Given the description of an element on the screen output the (x, y) to click on. 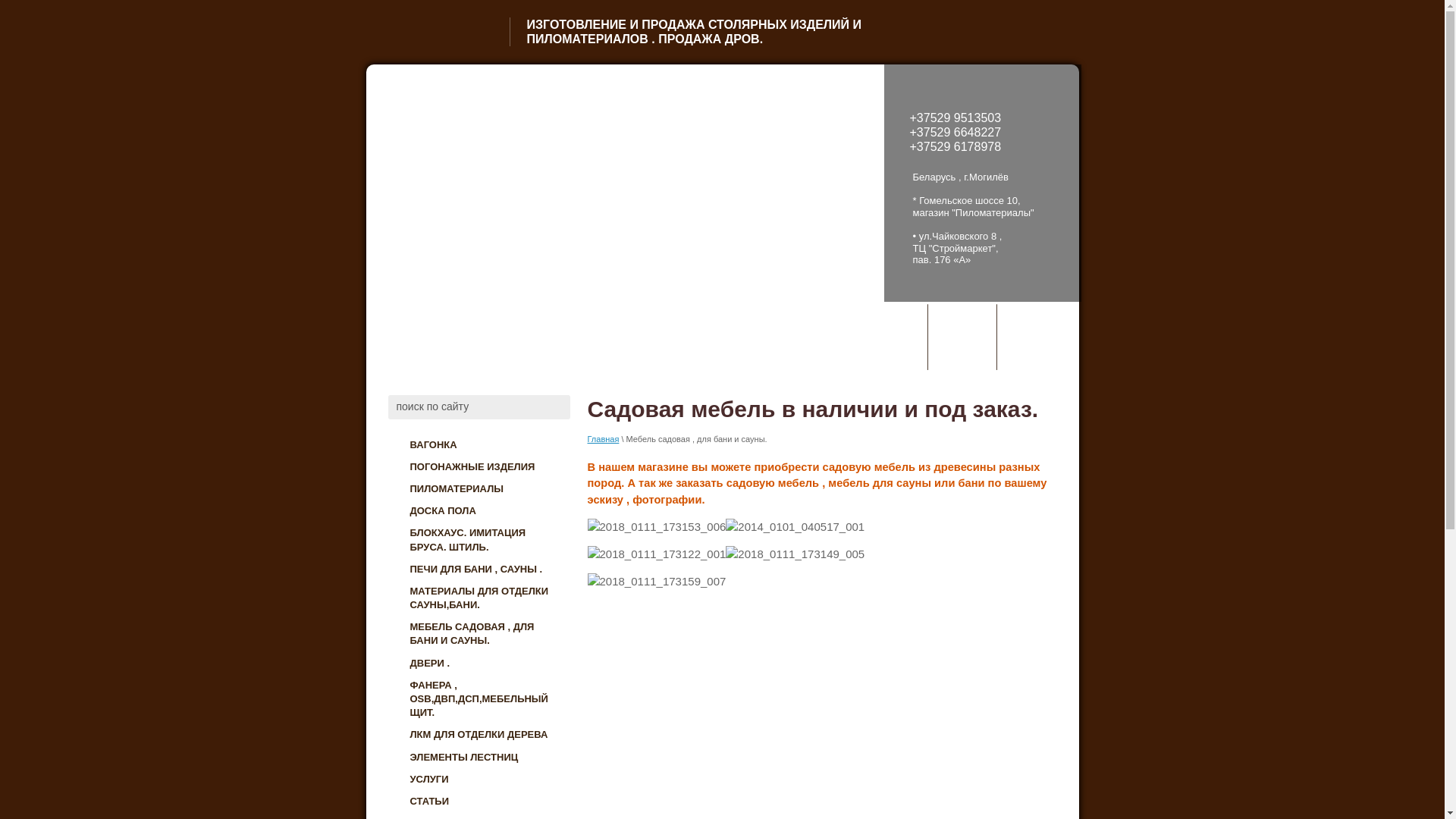
+37529 6178978 Element type: text (955, 146)
+37529 9513503 Element type: text (955, 117)
+37529 6648227 Element type: text (955, 131)
